Given the description of an element on the screen output the (x, y) to click on. 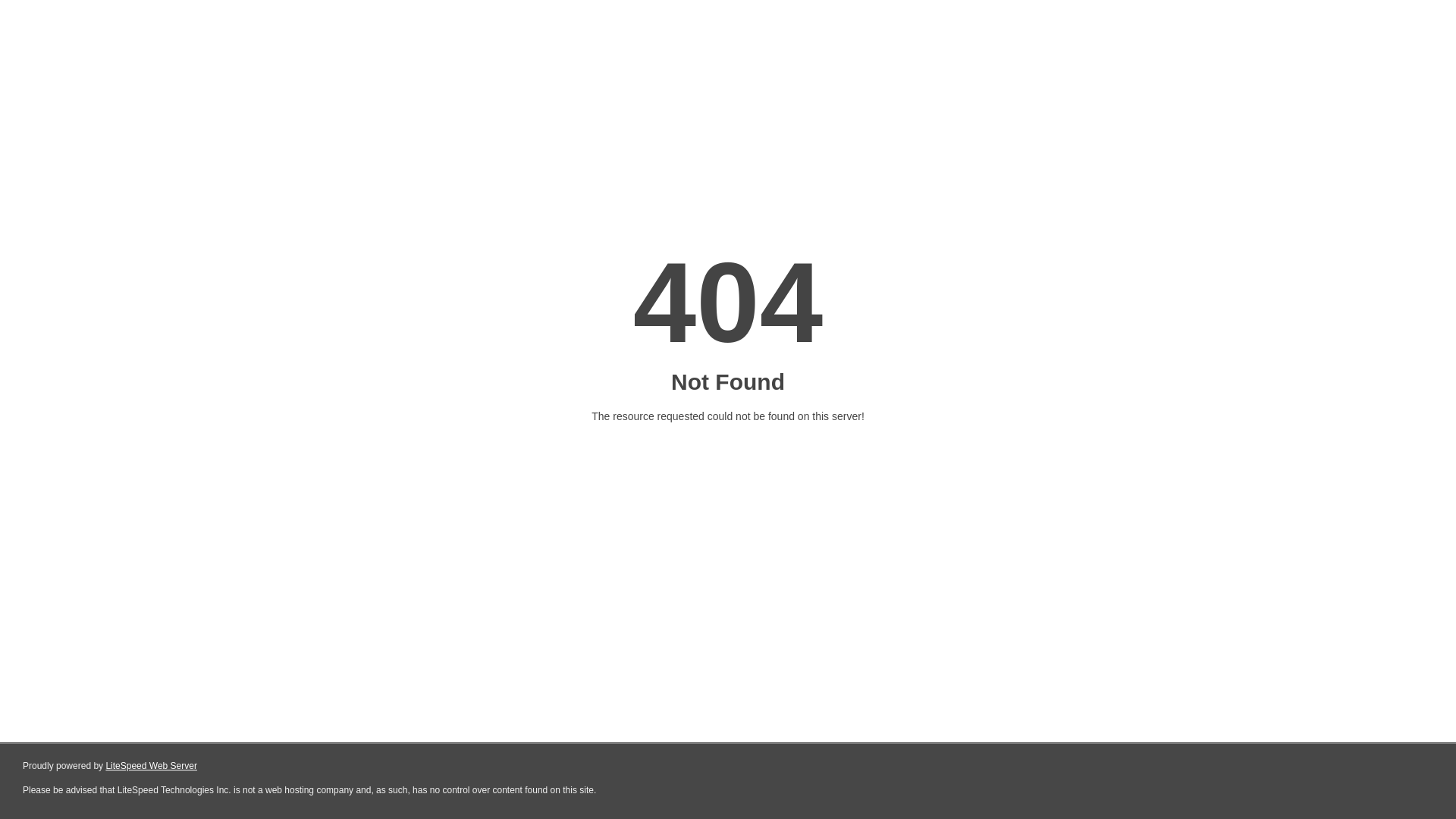
LiteSpeed Web Server Element type: text (151, 765)
